Given the description of an element on the screen output the (x, y) to click on. 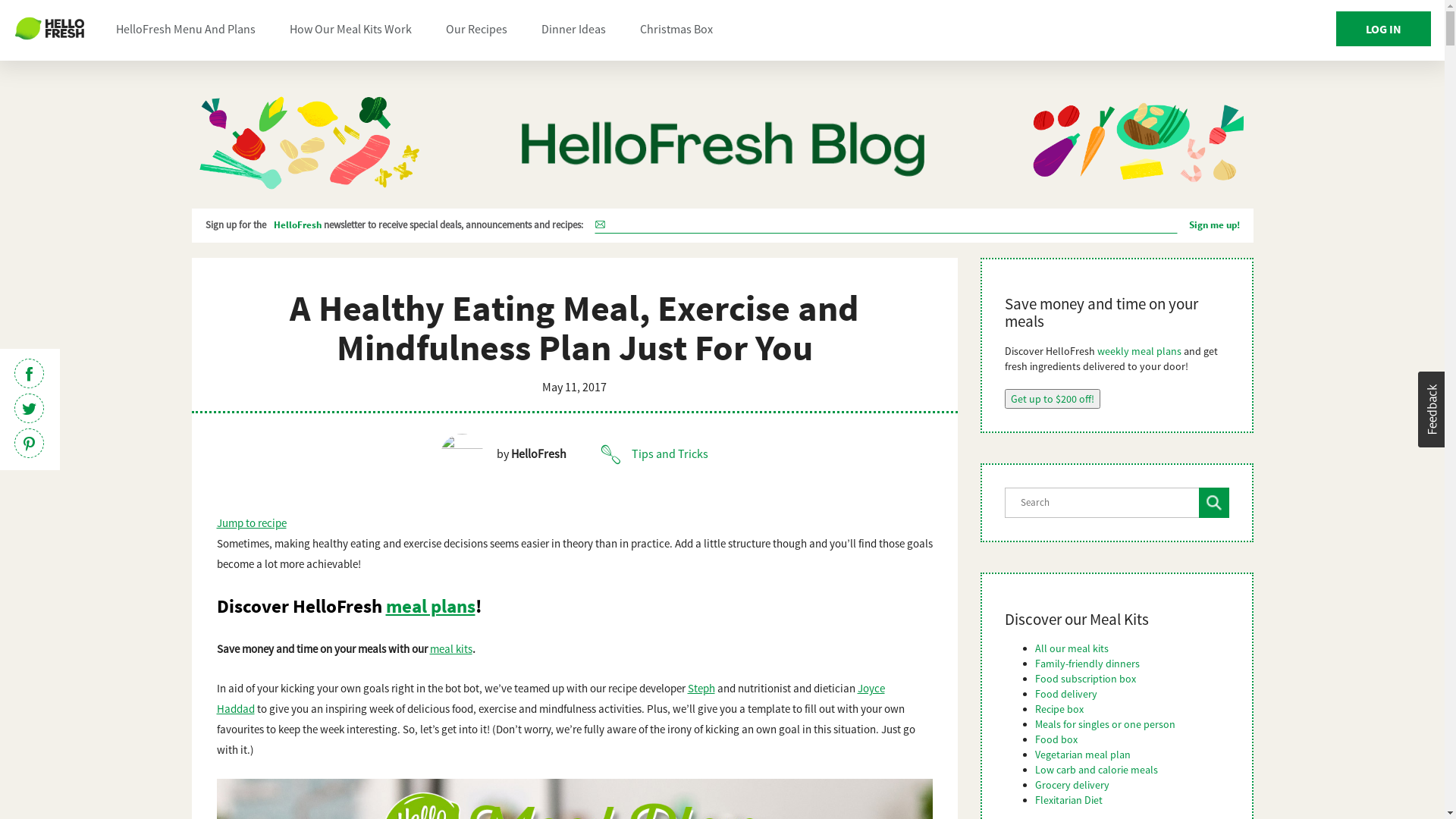
Recipe box Element type: text (1058, 708)
Joyce Haddad Element type: text (550, 697)
Grocery delivery Element type: text (1071, 784)
Get up to $200 off! Element type: text (1051, 398)
Our Recipes Element type: text (476, 28)
HelloFresh Menu And Plans Element type: text (185, 28)
meal plans Element type: text (429, 605)
Low carb and calorie meals Element type: text (1095, 769)
Food box Element type: text (1055, 739)
How Our Meal Kits Work Element type: text (350, 28)
All our meal kits Element type: text (1070, 648)
Jump to recipe Element type: text (250, 522)
Usabilla Feedback Button Element type: hover (1431, 409)
Subscribe Element type: text (1184, 228)
LOG IN Element type: text (1383, 28)
meal kits Element type: text (450, 648)
Tips and Tricks Element type: text (654, 453)
Sign me up! Element type: text (1214, 225)
Christmas Box Element type: text (676, 28)
Flexitarian Diet Element type: text (1067, 799)
Food subscription box Element type: text (1084, 678)
weekly meal plans Element type: text (1138, 350)
Dinner Ideas Element type: text (573, 28)
Family-friendly dinners Element type: text (1086, 663)
Food delivery Element type: text (1065, 693)
Meals for singles or one person Element type: text (1104, 724)
Vegetarian meal plan Element type: text (1081, 754)
Get up to $200 off! Element type: text (1051, 398)
Steph Element type: text (700, 687)
